Given the description of an element on the screen output the (x, y) to click on. 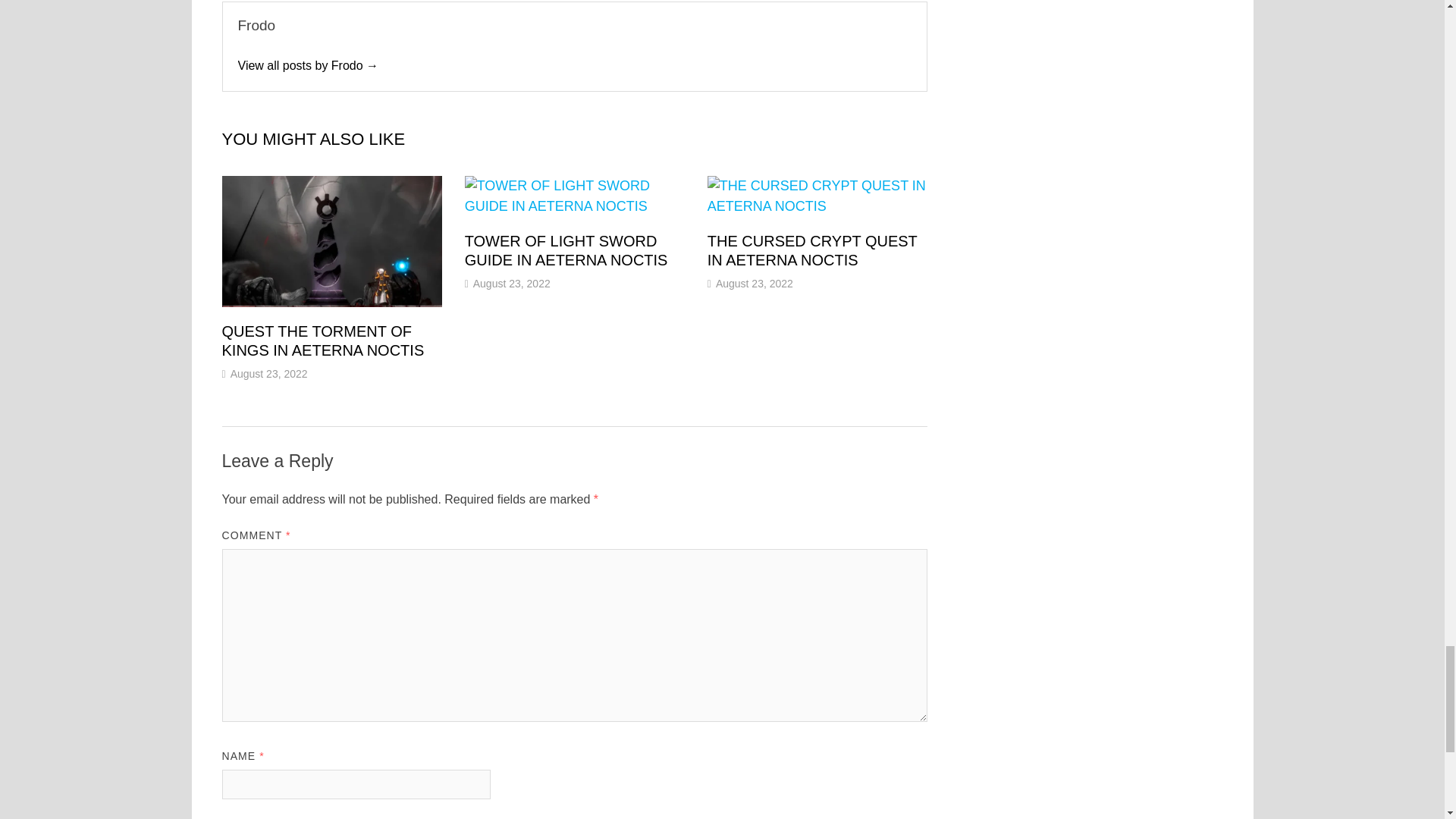
THE CURSED CRYPT QUEST IN AETERNA NOCTIS (812, 250)
QUEST THE TORMENT OF KINGS IN AETERNA NOCTIS (322, 340)
QUEST THE TORMENT OF KINGS IN AETERNA NOCTIS (322, 340)
THE CURSED CRYPT QUEST IN AETERNA NOCTIS (812, 250)
Frodo (308, 65)
TOWER OF LIGHT SWORD GUIDE IN AETERNA NOCTIS (566, 250)
TOWER OF LIGHT SWORD GUIDE IN AETERNA NOCTIS (566, 250)
August 23, 2022 (268, 373)
August 23, 2022 (754, 283)
August 23, 2022 (511, 283)
